Given the description of an element on the screen output the (x, y) to click on. 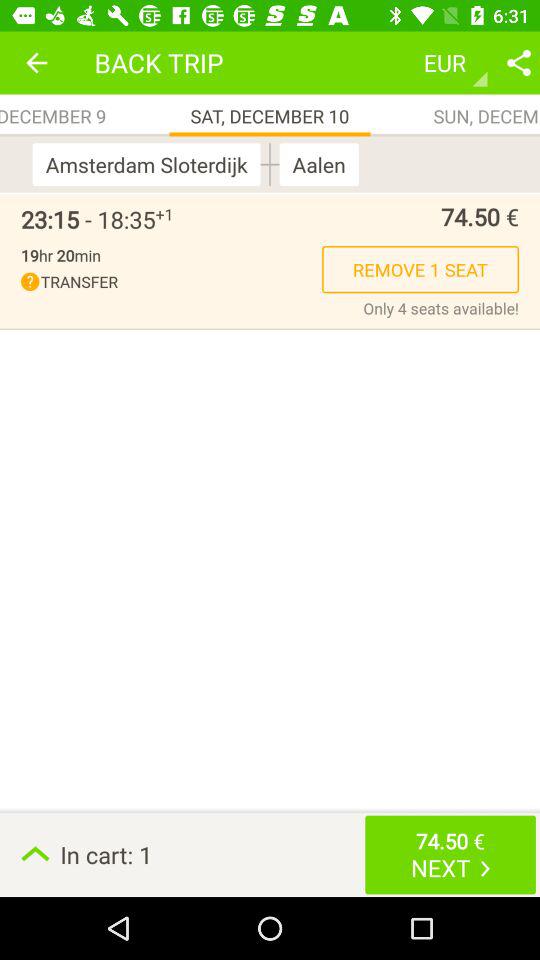
select the item to the right of the amsterdam sloterdijk item (269, 164)
